Given the description of an element on the screen output the (x, y) to click on. 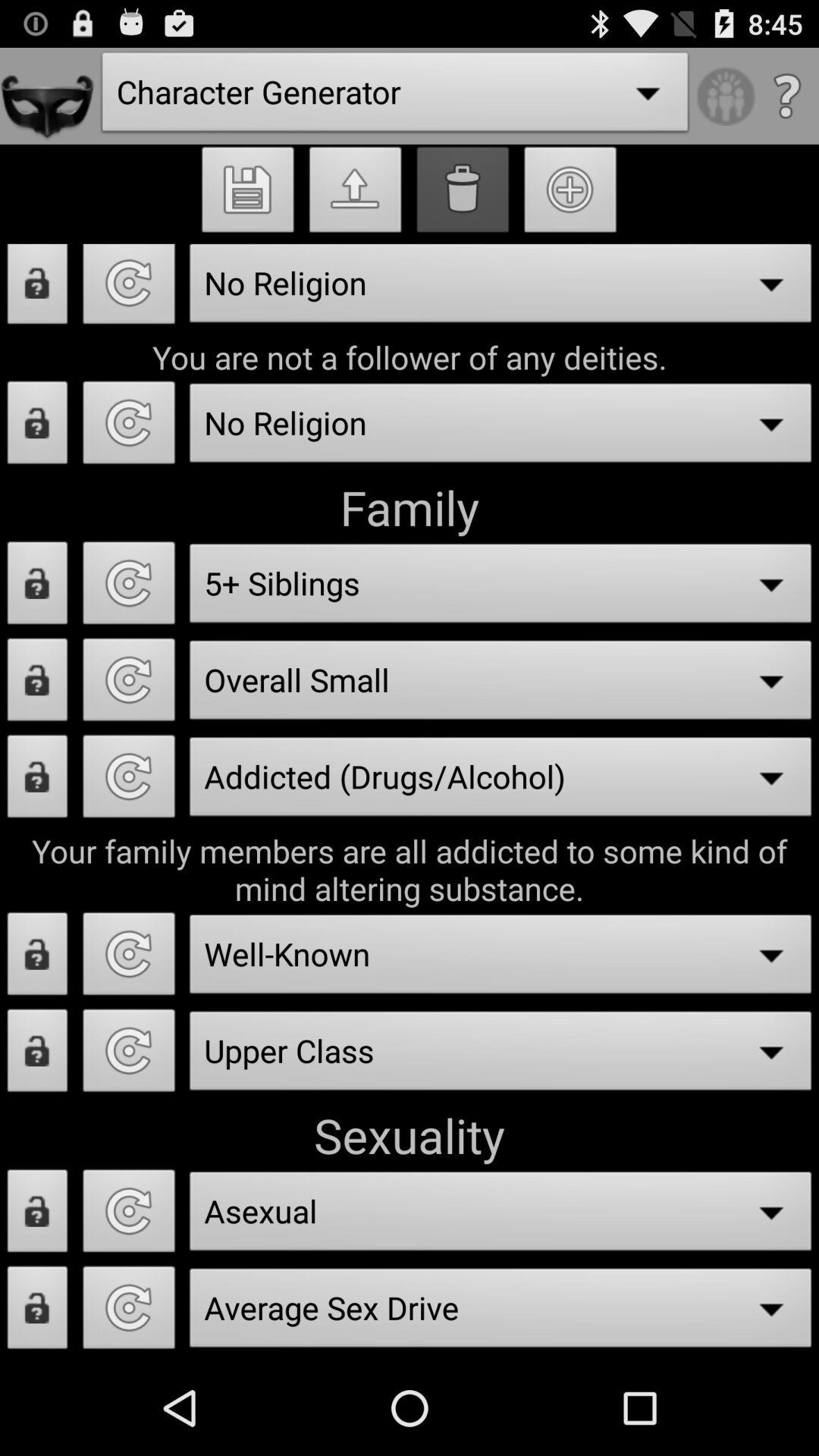
reset (129, 289)
